Given the description of an element on the screen output the (x, y) to click on. 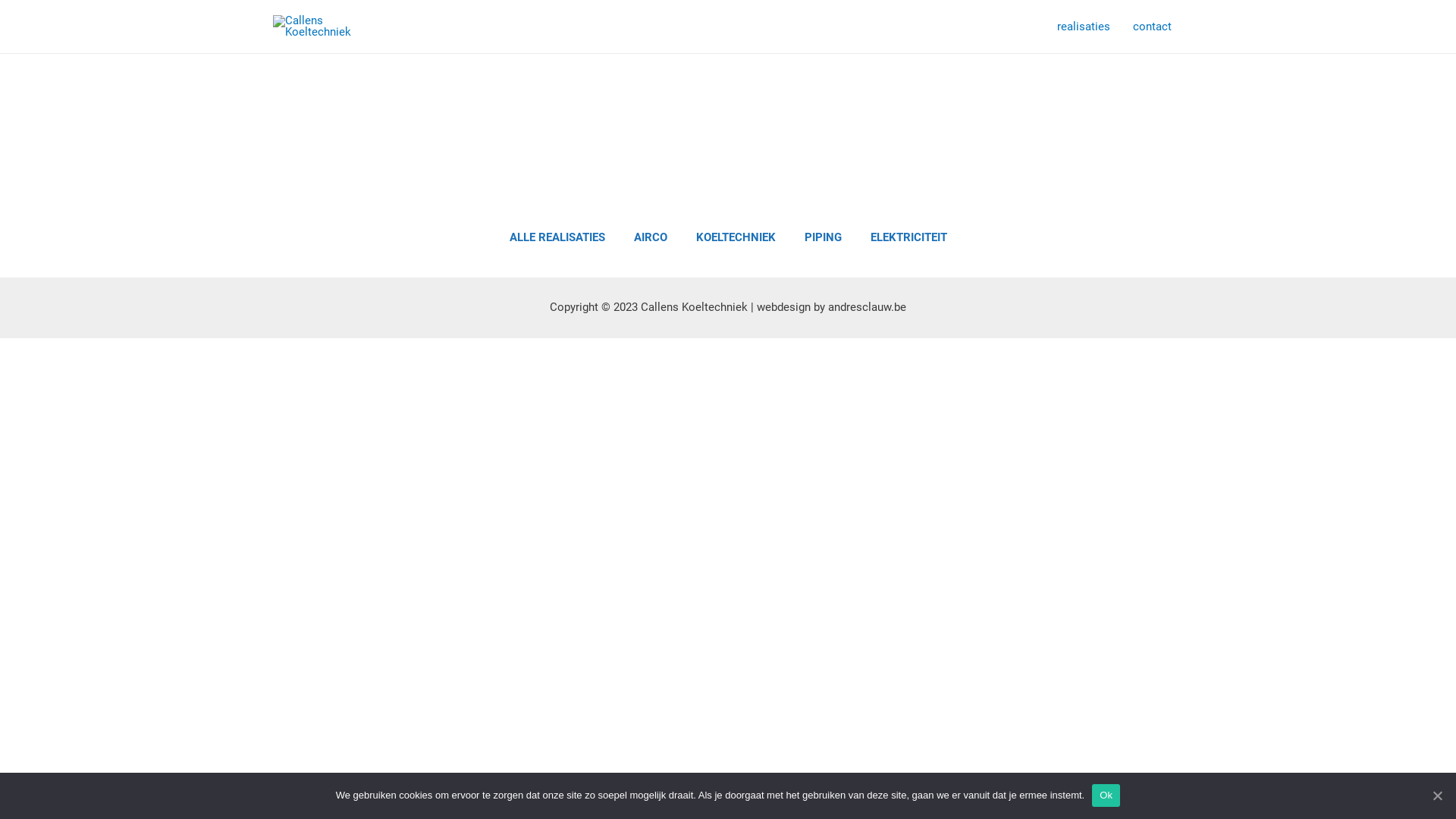
AIRCO Element type: text (650, 238)
realisaties Element type: text (1083, 26)
contact Element type: text (1152, 26)
ELEKTRICITEIT Element type: text (908, 238)
KOELTECHNIEK Element type: text (735, 238)
PIPING Element type: text (822, 238)
Ok Element type: text (1106, 795)
ALLE REALISATIES Element type: text (556, 238)
